Given the description of an element on the screen output the (x, y) to click on. 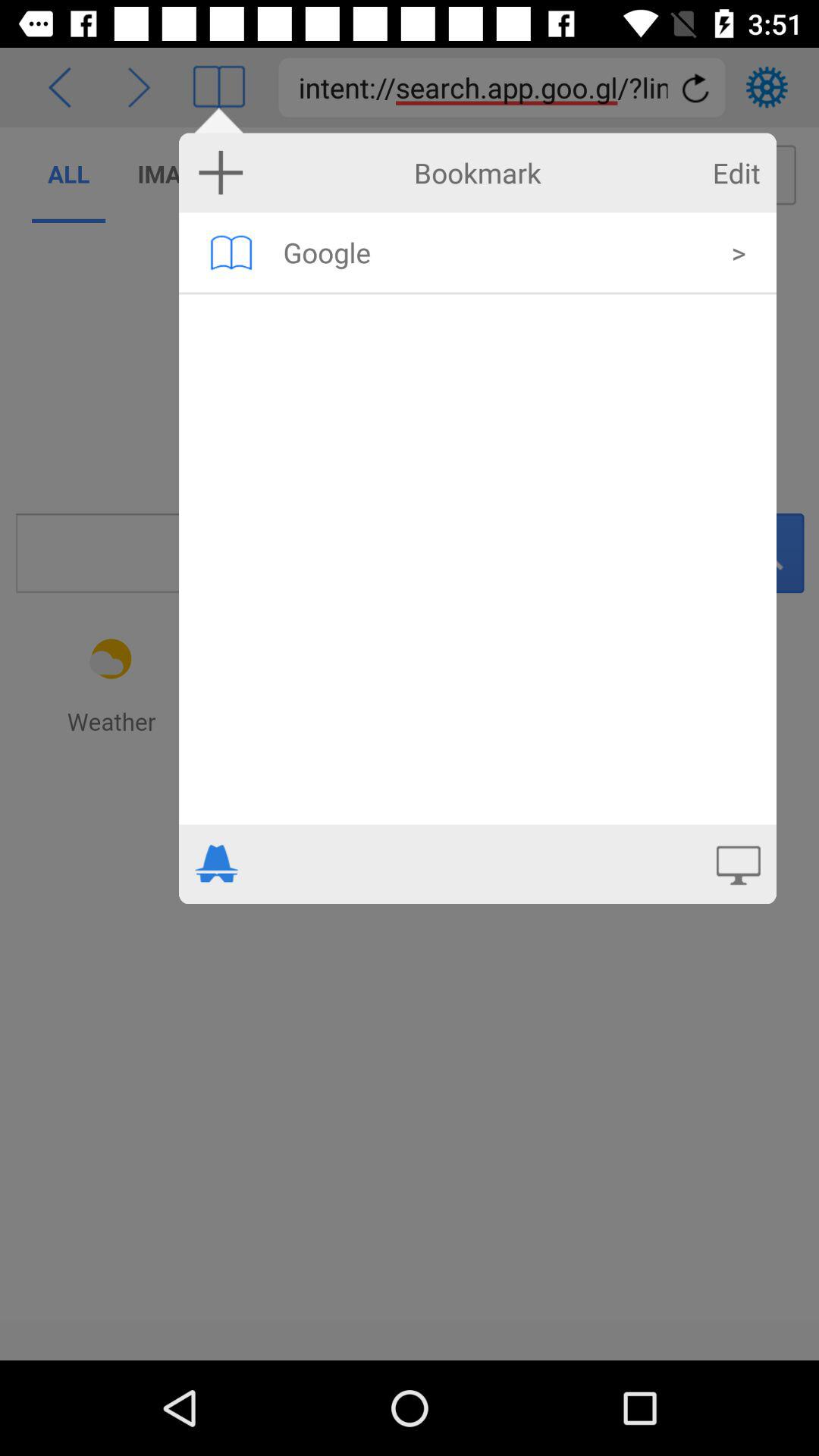
open full screen (738, 864)
